Given the description of an element on the screen output the (x, y) to click on. 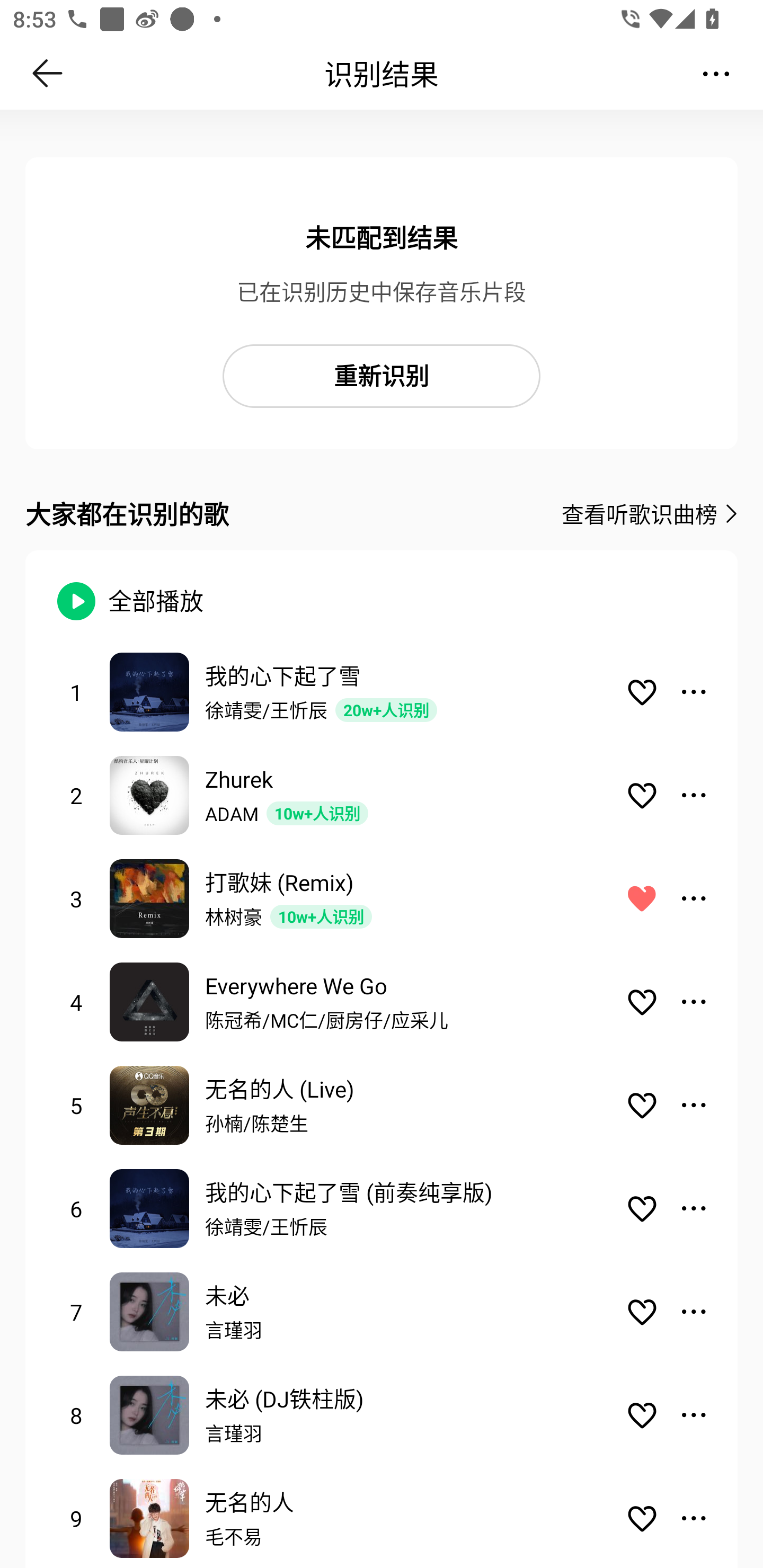
返回 (47, 73)
更多 (715, 73)
重新识别 (381, 375)
查看听歌识曲榜 (639, 513)
全部播放 (149, 600)
1 我的心下起了雪 徐靖雯/王忻辰 20w+人识别 (381, 691)
2 Zhurek ADAM 10w+人识别 (381, 794)
3 打歌妹 (Remix) 林树豪 10w+人识别 (381, 898)
4 Everywhere We Go 陈冠希/MC仁/厨房仔/应采儿 (381, 1001)
5 无名的人 (Live) 孙楠/陈楚生 (381, 1105)
6 我的心下起了雪 (前奏纯享版) 徐靖雯/王忻辰 (381, 1208)
7 未必 言瑾羽 (381, 1312)
8 未必 (DJ铁柱版) 言瑾羽 (381, 1415)
9 无名的人 毛不易 (381, 1517)
